Given the description of an element on the screen output the (x, y) to click on. 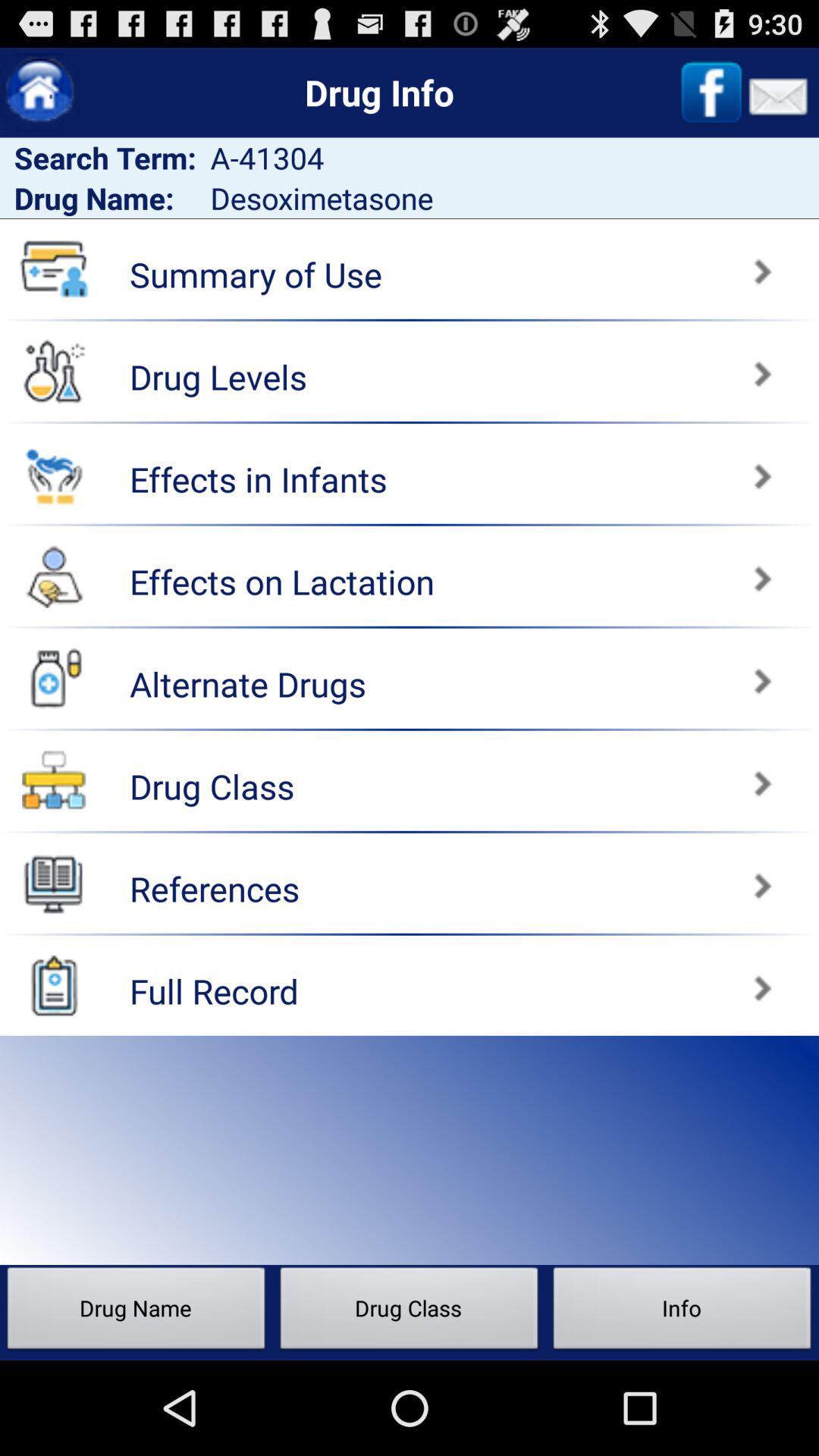
go to effects in infants (617, 468)
